Given the description of an element on the screen output the (x, y) to click on. 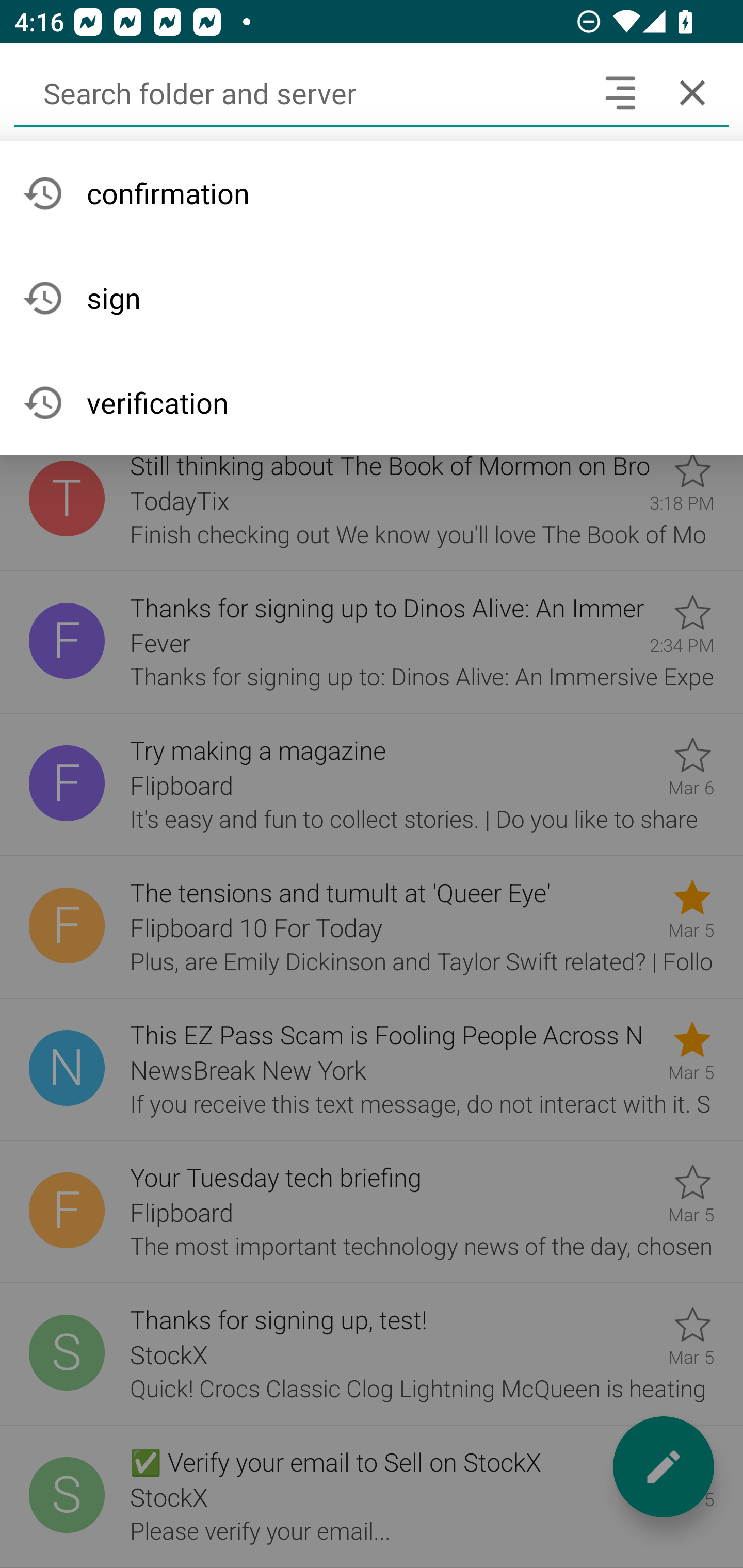
   Search folder and server (298, 92)
Search headers and text (619, 92)
Cancel (692, 92)
